Given the description of an element on the screen output the (x, y) to click on. 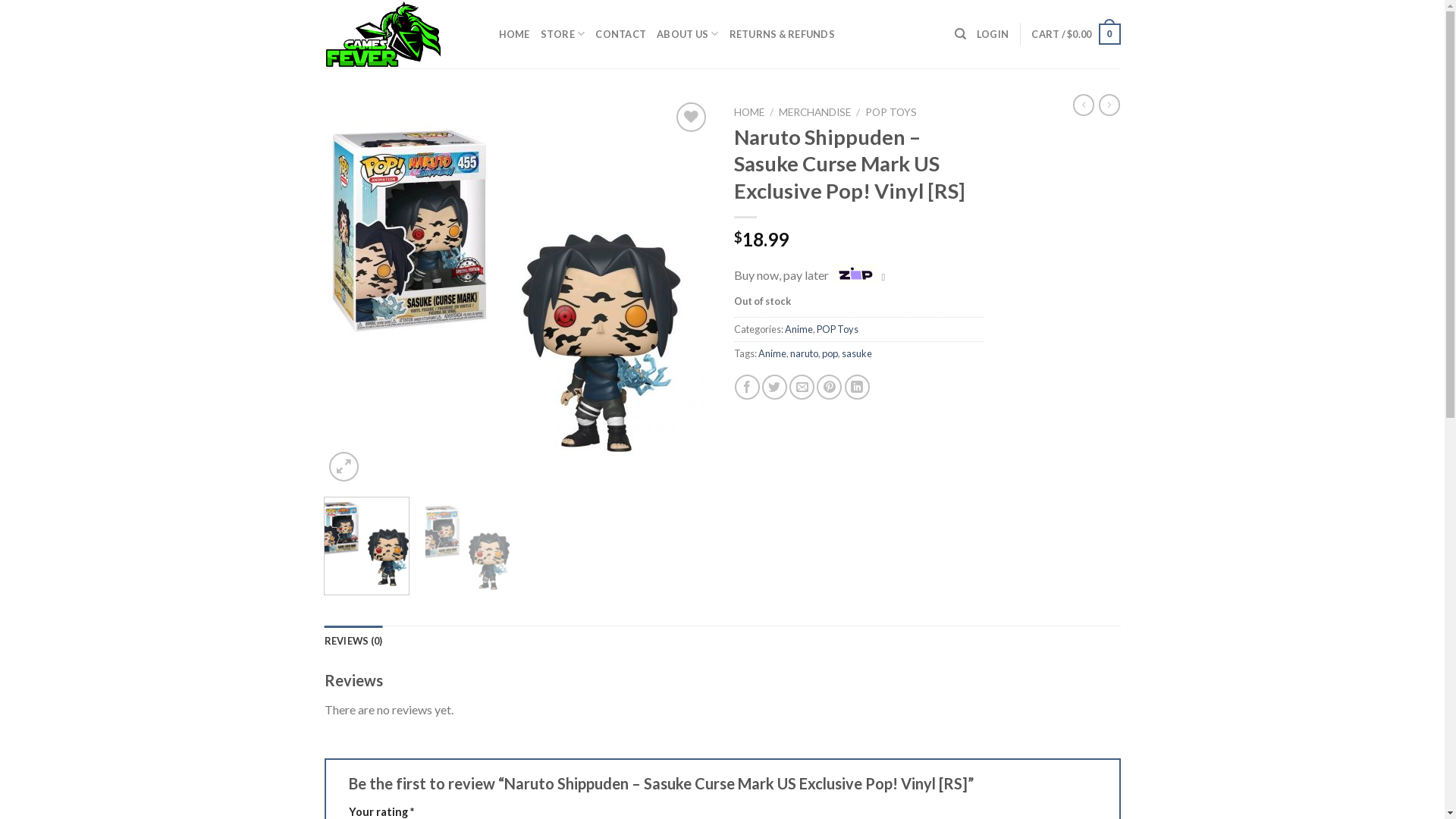
Email to a Friend Element type: hover (801, 386)
Share on LinkedIn Element type: hover (856, 386)
Pin on Pinterest Element type: hover (828, 386)
RETURNS & REFUNDS Element type: text (781, 33)
REVIEWS (0) Element type: text (353, 640)
ABOUT US Element type: text (687, 33)
MERCHANDISE Element type: text (814, 112)
Anime Element type: text (798, 329)
Share on Facebook Element type: hover (746, 386)
pop Element type: text (829, 353)
POP TOYS Element type: text (890, 112)
Anime Element type: text (772, 353)
CART / $0.00
0 Element type: text (1075, 33)
POP Toys Element type: text (836, 329)
HOME Element type: text (749, 112)
STORE Element type: text (562, 33)
HOME Element type: text (514, 33)
sasuke Element type: text (856, 353)
naruto Element type: text (804, 353)
Gamesfever - Collectables, Cards, Tabletop and Figurines Element type: hover (400, 34)
LOGIN Element type: text (992, 33)
Zoom Element type: hover (343, 466)
CONTACT Element type: text (620, 33)
FUN35525--Naruto-Sasuke-Curse-Pop Element type: hover (517, 291)
Share on Twitter Element type: hover (774, 386)
